Given the description of an element on the screen output the (x, y) to click on. 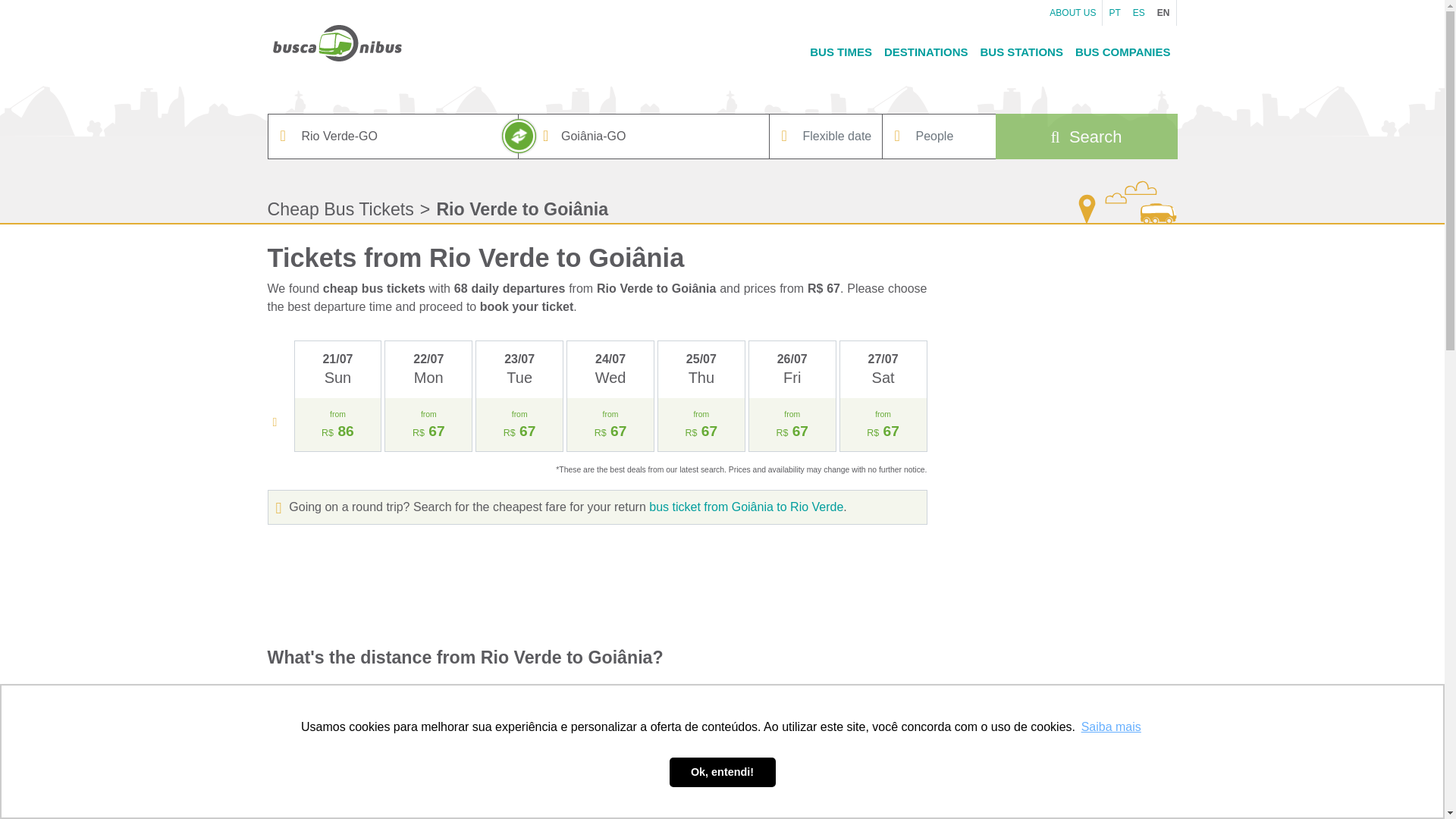
ES (1138, 12)
BUS COMPANIES (1122, 52)
PT (1113, 12)
DESTINATIONS (925, 52)
Saiba mais (1110, 726)
ABOUT US (1072, 12)
 Search (1085, 135)
Ok, entendi! (721, 771)
BUS STATIONS (1021, 52)
BUS TIMES (840, 52)
Rio Verde-GO (392, 136)
